Given the description of an element on the screen output the (x, y) to click on. 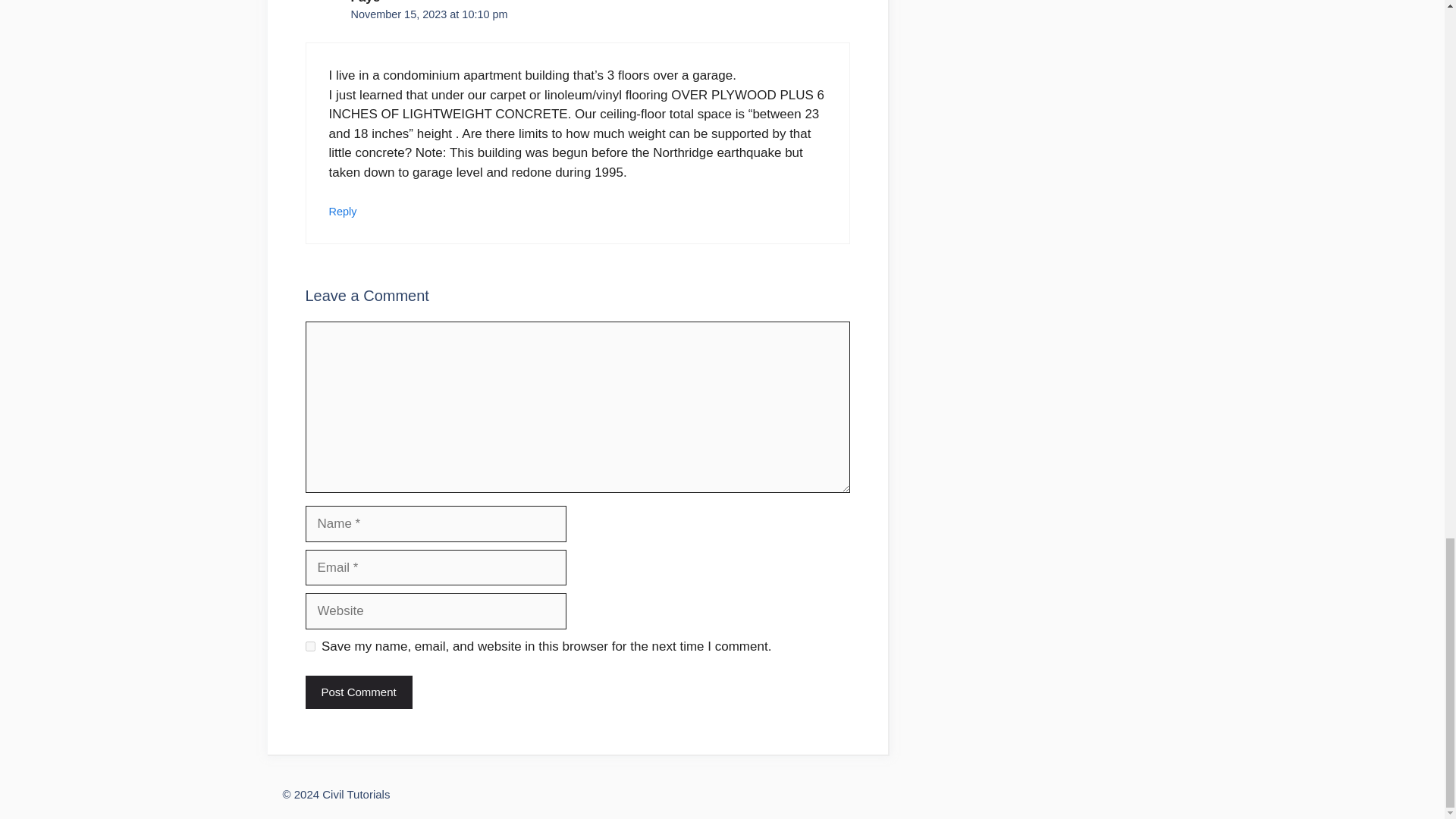
Reply (342, 211)
November 15, 2023 at 10:10 pm (428, 14)
Post Comment (358, 692)
Post Comment (358, 692)
yes (309, 646)
